Given the description of an element on the screen output the (x, y) to click on. 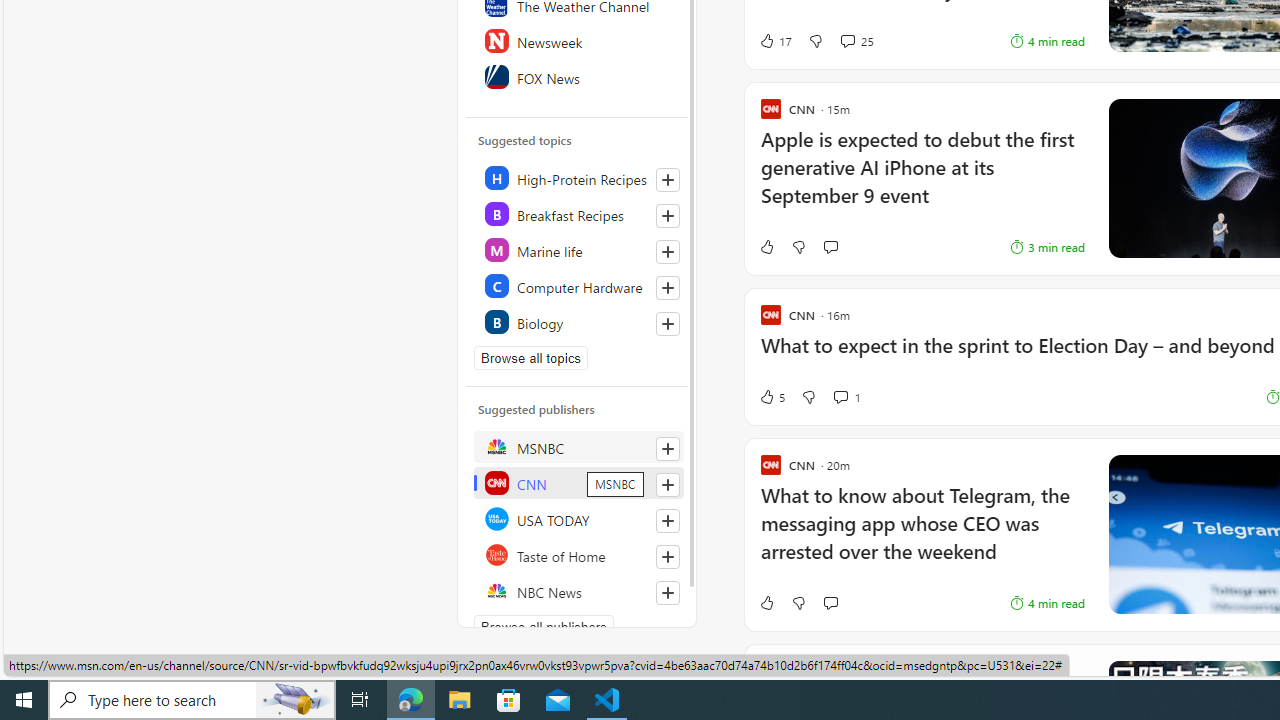
5 Like (771, 396)
Browse all publishers (543, 626)
FOX News (578, 76)
Browse all topics (530, 358)
View comments 25 Comment (855, 40)
Follow this source (667, 592)
Newsweek (578, 40)
Follow this source (667, 592)
USA TODAY (578, 518)
View comments 25 Comment (847, 40)
17 Like (775, 40)
